Given the description of an element on the screen output the (x, y) to click on. 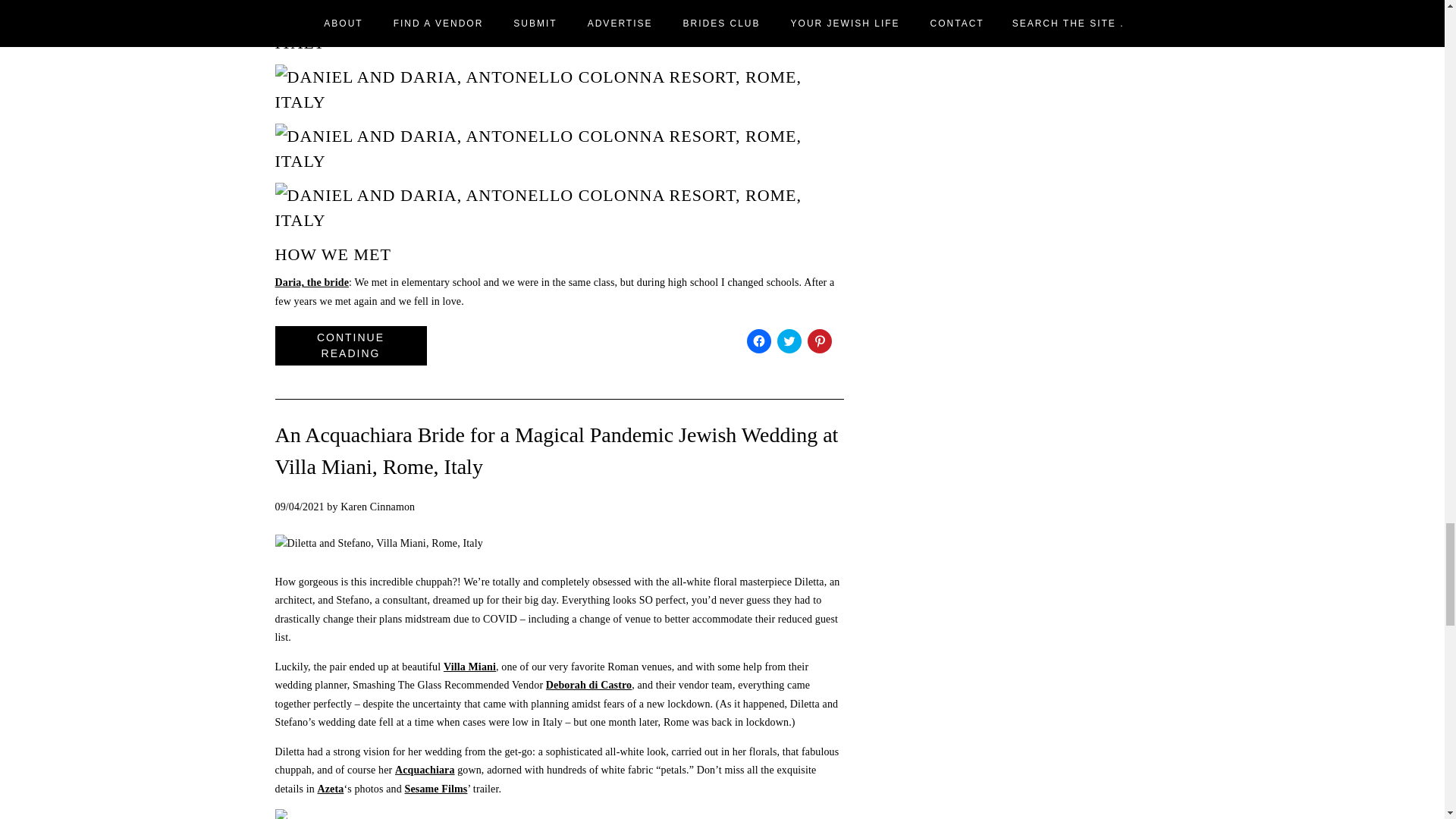
Click to share on Pinterest (818, 340)
Click to share on Twitter (788, 340)
Click to share on Facebook (757, 340)
